Given the description of an element on the screen output the (x, y) to click on. 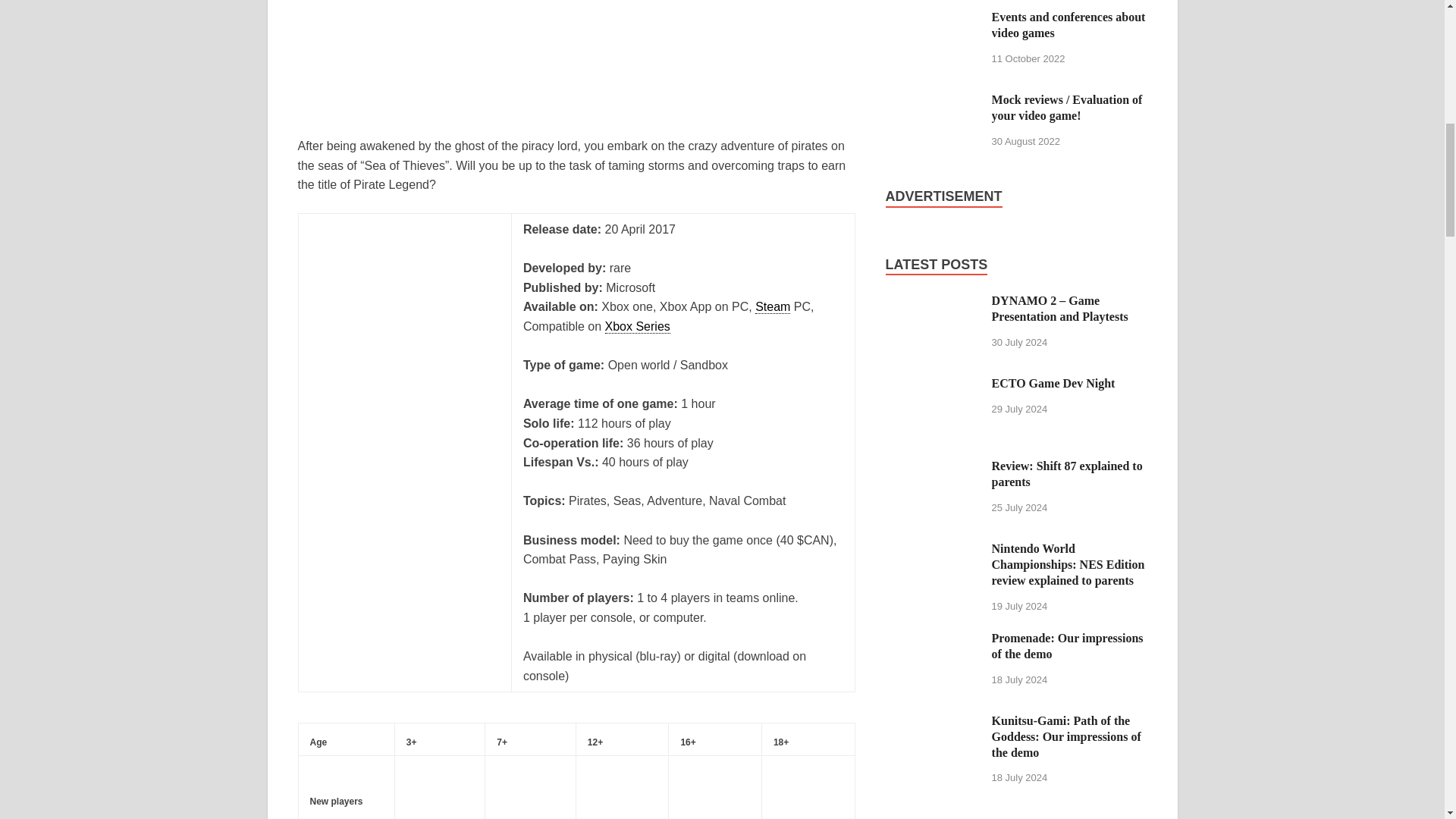
Review: Sea of Thieves 5 (623, 790)
Review: Sea of Thieves 5 (808, 790)
Review: Sea of Thieves 5 (714, 790)
Review: Sea of Thieves 3 (440, 790)
Review: Sea of Thieves 3 (530, 790)
Review: Sea of Thieves 1 (575, 56)
